Given the description of an element on the screen output the (x, y) to click on. 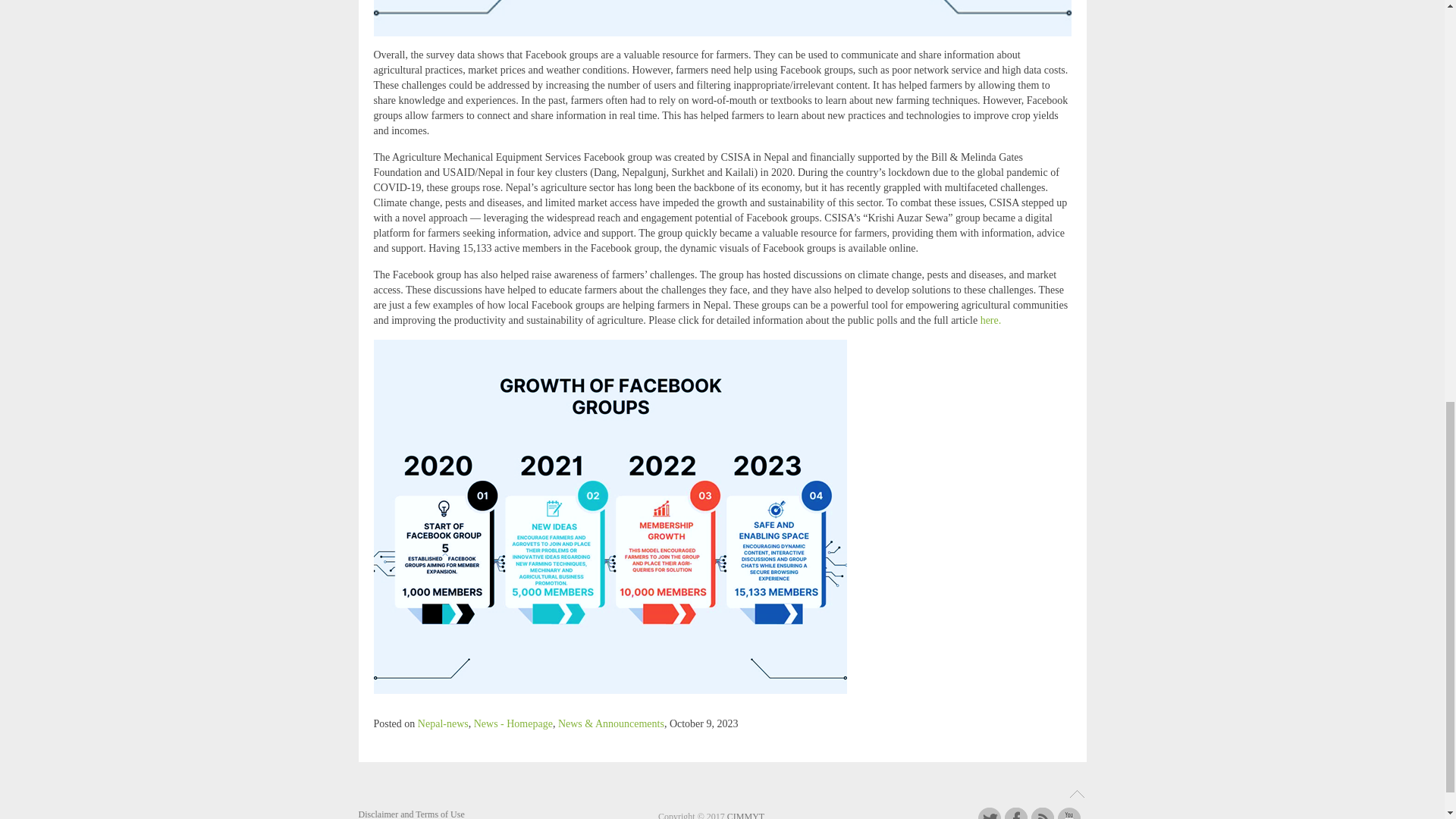
Disclaimer and Terms of Use (411, 813)
CIMMYT (745, 815)
RSS (1042, 813)
here. (990, 319)
Disclaimer and Terms of Use (411, 813)
Youtube (1069, 813)
Twitter (989, 813)
News - Homepage (513, 723)
Facebook (1015, 813)
Nepal-news (442, 723)
